Given the description of an element on the screen output the (x, y) to click on. 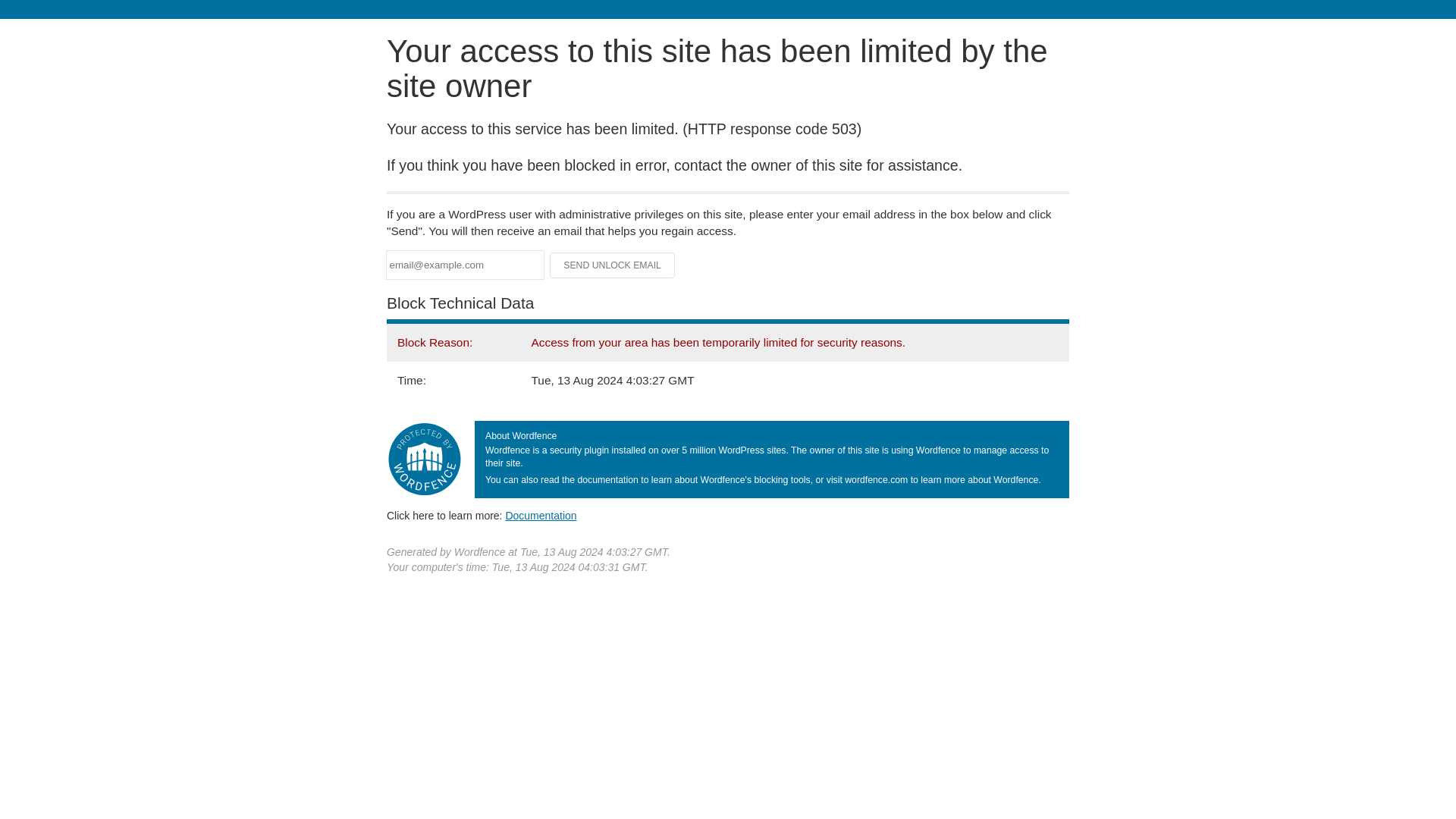
Send Unlock Email (612, 265)
Documentation (540, 515)
Send Unlock Email (612, 265)
